Given the description of an element on the screen output the (x, y) to click on. 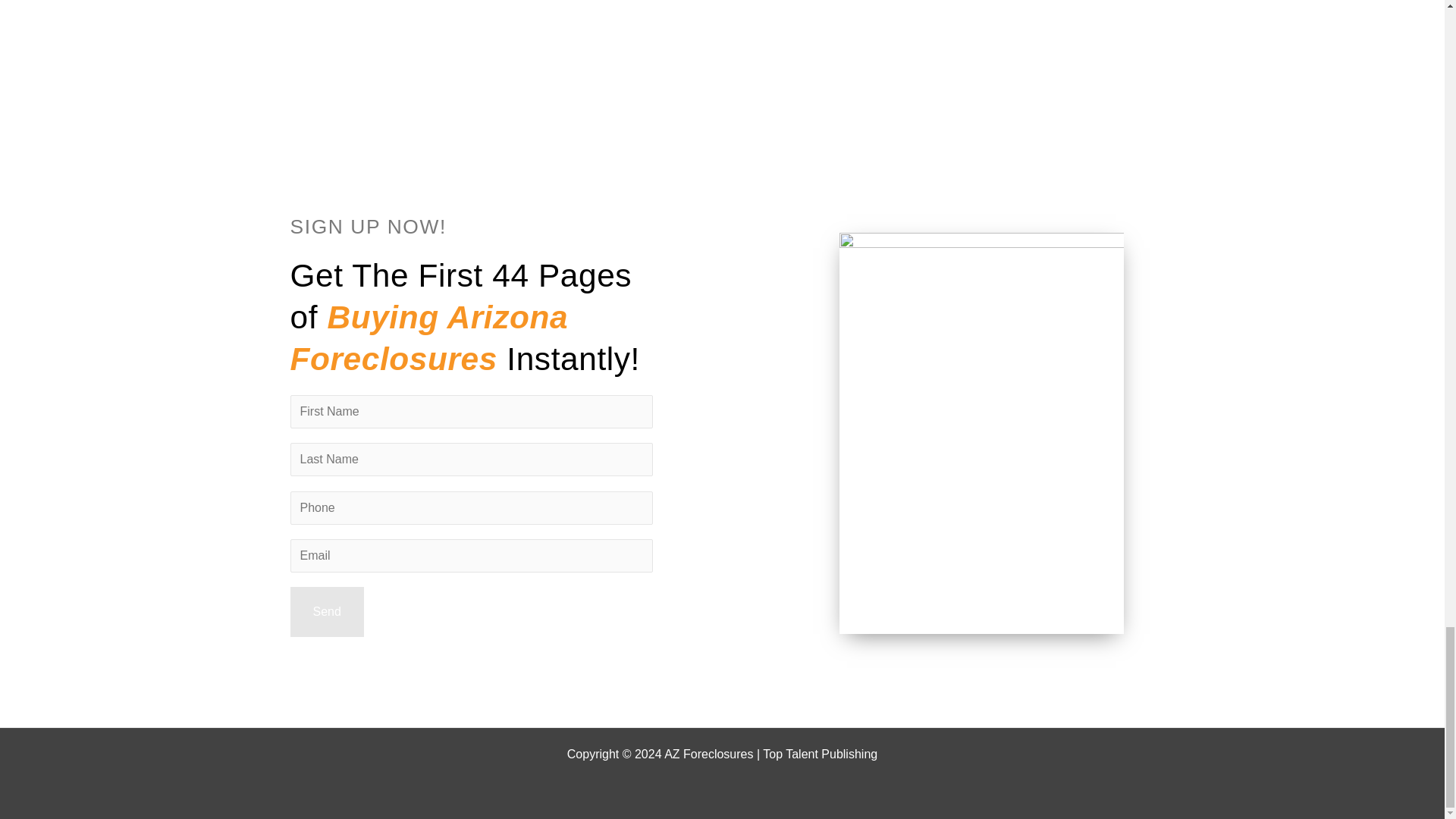
Send (325, 612)
Send (325, 612)
Top Talent Publishing (819, 753)
